Given the description of an element on the screen output the (x, y) to click on. 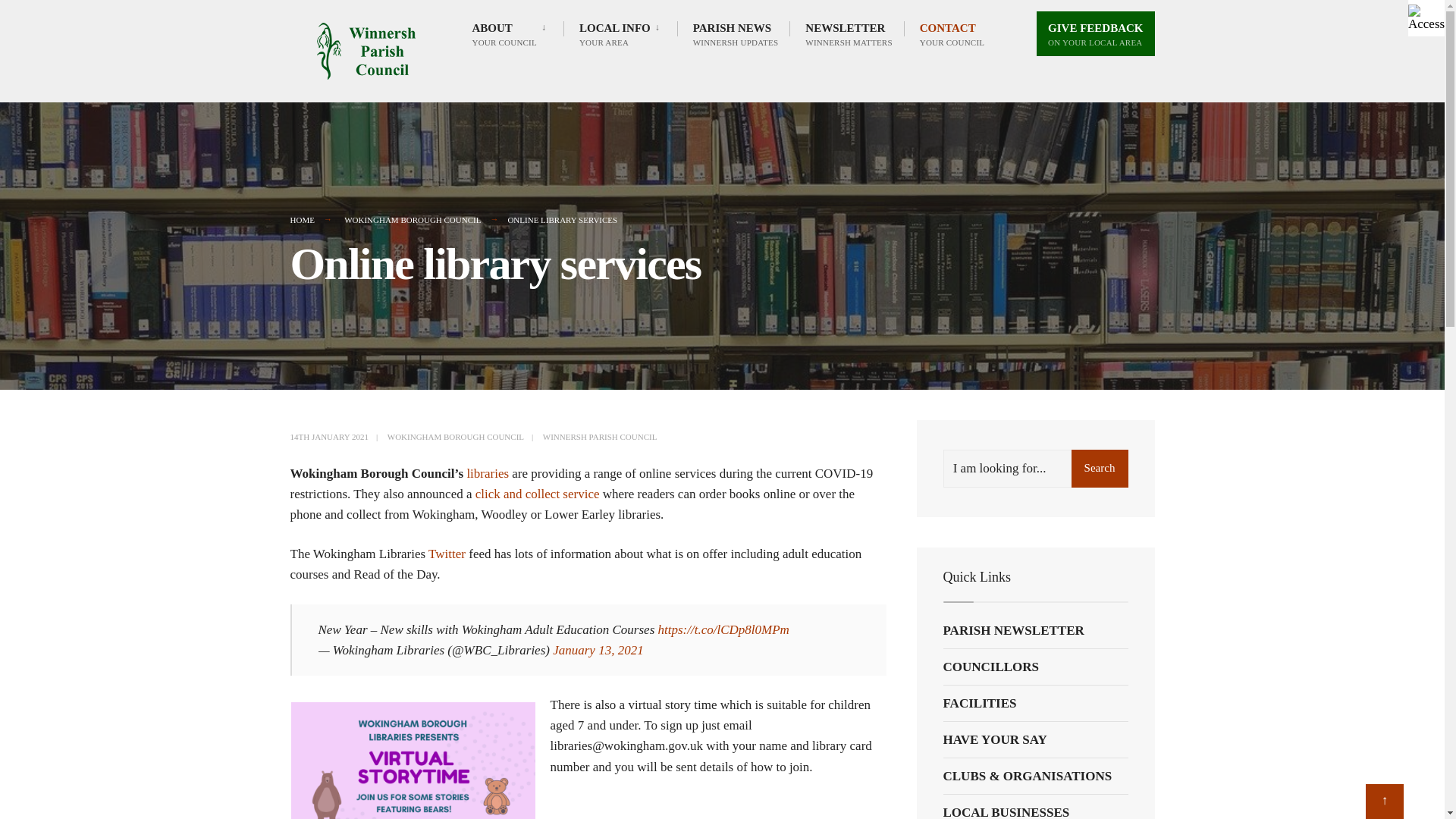
I am looking for... (1035, 468)
Skip to content (296, 3)
Posts by Winnersh Parish Council (622, 33)
Scroll to top (600, 436)
